Given the description of an element on the screen output the (x, y) to click on. 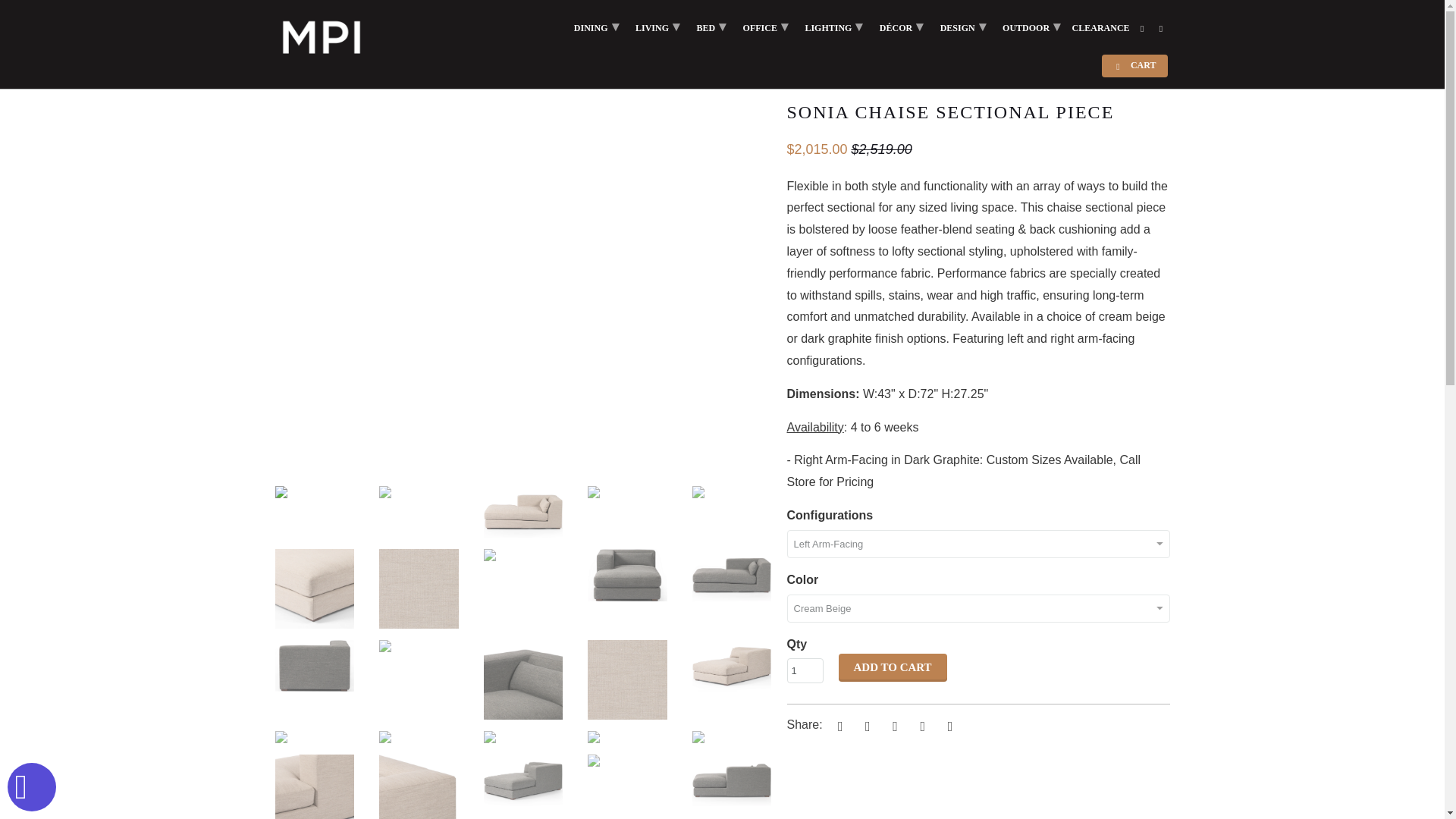
1 (805, 670)
Products (349, 62)
marcopolo-imports (289, 62)
